Given the description of an element on the screen output the (x, y) to click on. 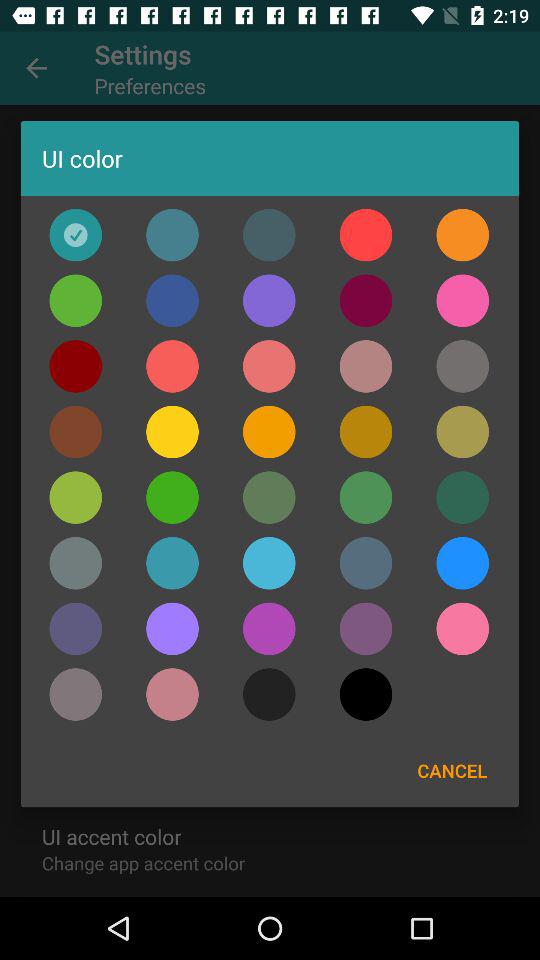
change ui color (75, 497)
